Given the description of an element on the screen output the (x, y) to click on. 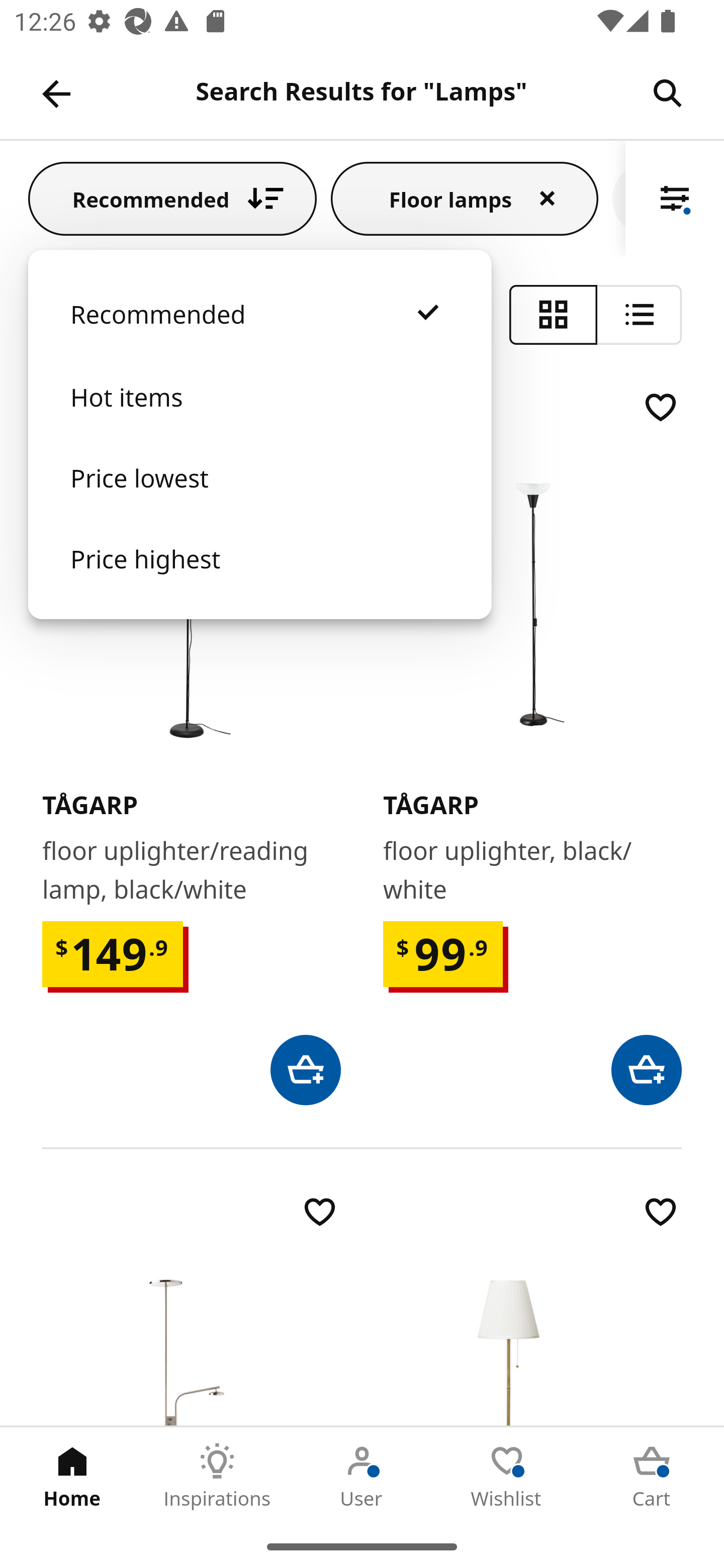
Recommended (172, 198)
Floor lamps (464, 198)
Recommended (259, 333)
Hot items (259, 416)
​T​Å​G​A​R​P​
floor uplighter, black/white
$
99
.9 (532, 746)
Price lowest (259, 497)
Price highest (259, 578)
​Å​R​S​T​I​D​
floor lamp, brass/white
$
449
.9 (532, 1308)
Home
Tab 1 of 5 (72, 1476)
Inspirations
Tab 2 of 5 (216, 1476)
User
Tab 3 of 5 (361, 1476)
Wishlist
Tab 4 of 5 (506, 1476)
Cart
Tab 5 of 5 (651, 1476)
